Given the description of an element on the screen output the (x, y) to click on. 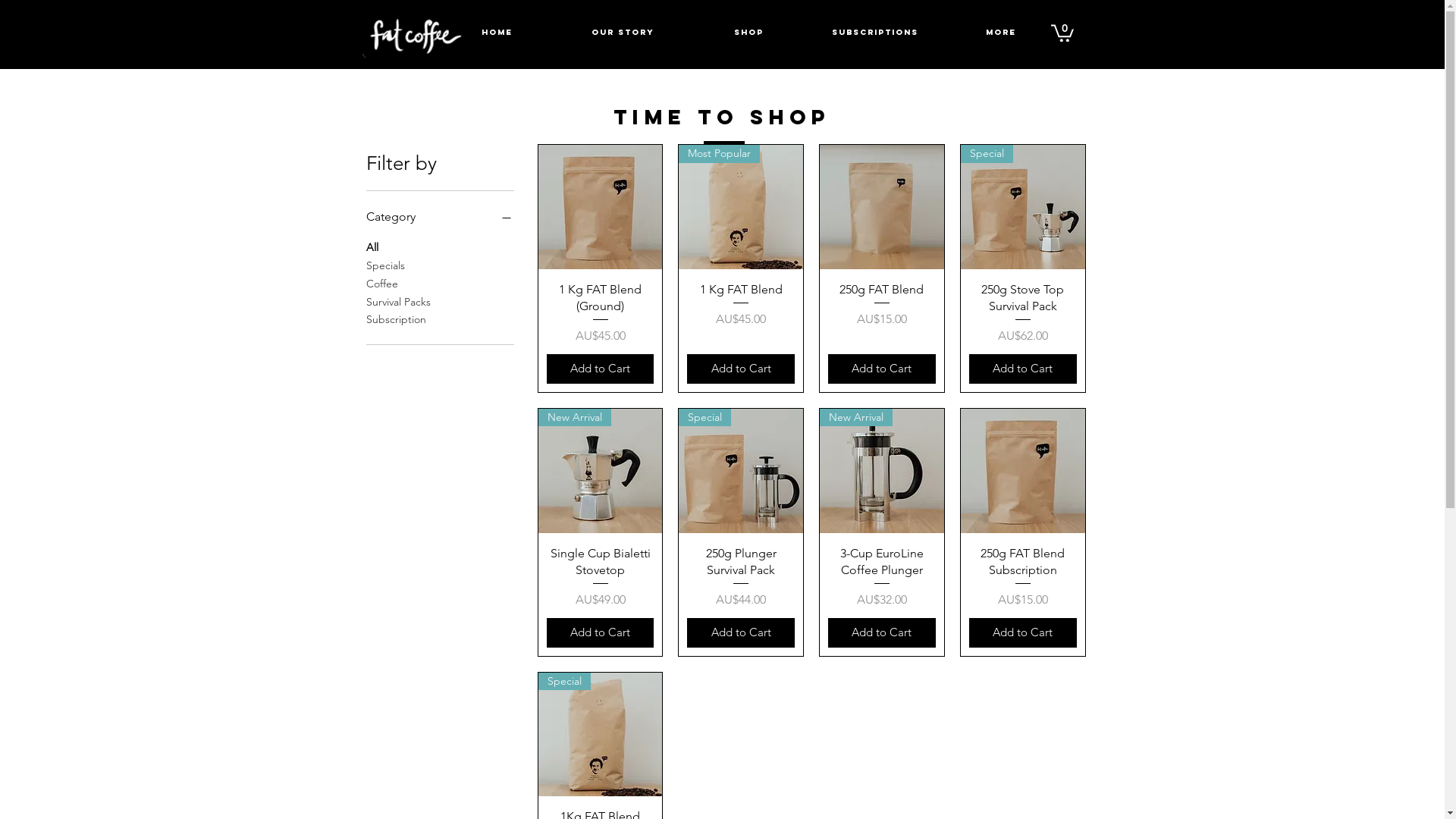
New Arrival Element type: text (600, 470)
250g FAT Blend
Price
AU$15.00 Element type: text (881, 313)
1 Kg FAT Blend (Ground)
Price
AU$45.00 Element type: text (600, 313)
3-Cup EuroLine Coffee Plunger
Price
AU$32.00 Element type: text (881, 577)
OUR STORY Element type: text (622, 31)
250g Stove Top Survival Pack
Price
AU$62.00 Element type: text (1022, 313)
Add to Cart Element type: text (881, 632)
SUBSCRIPTIONS Element type: text (874, 31)
SHOP Element type: text (748, 31)
Category Element type: text (439, 216)
Most Popular Element type: text (740, 206)
Add to Cart Element type: text (881, 368)
250g Plunger Survival Pack
Price
AU$44.00 Element type: text (740, 577)
Add to Cart Element type: text (740, 632)
Add to Cart Element type: text (600, 368)
Add to Cart Element type: text (600, 632)
Add to Cart Element type: text (740, 368)
Add to Cart Element type: text (1022, 368)
1 Kg FAT Blend
Price
AU$45.00 Element type: text (740, 313)
250g FAT Blend Subscription
Price
AU$15.00 Element type: text (1022, 577)
Add to Cart Element type: text (1022, 632)
0 Element type: text (1062, 31)
Special Element type: text (600, 734)
New Arrival Element type: text (881, 470)
Single Cup Bialetti Stovetop
Price
AU$49.00 Element type: text (600, 577)
HOME Element type: text (496, 31)
Special Element type: text (1022, 206)
Special Element type: text (740, 470)
